Given the description of an element on the screen output the (x, y) to click on. 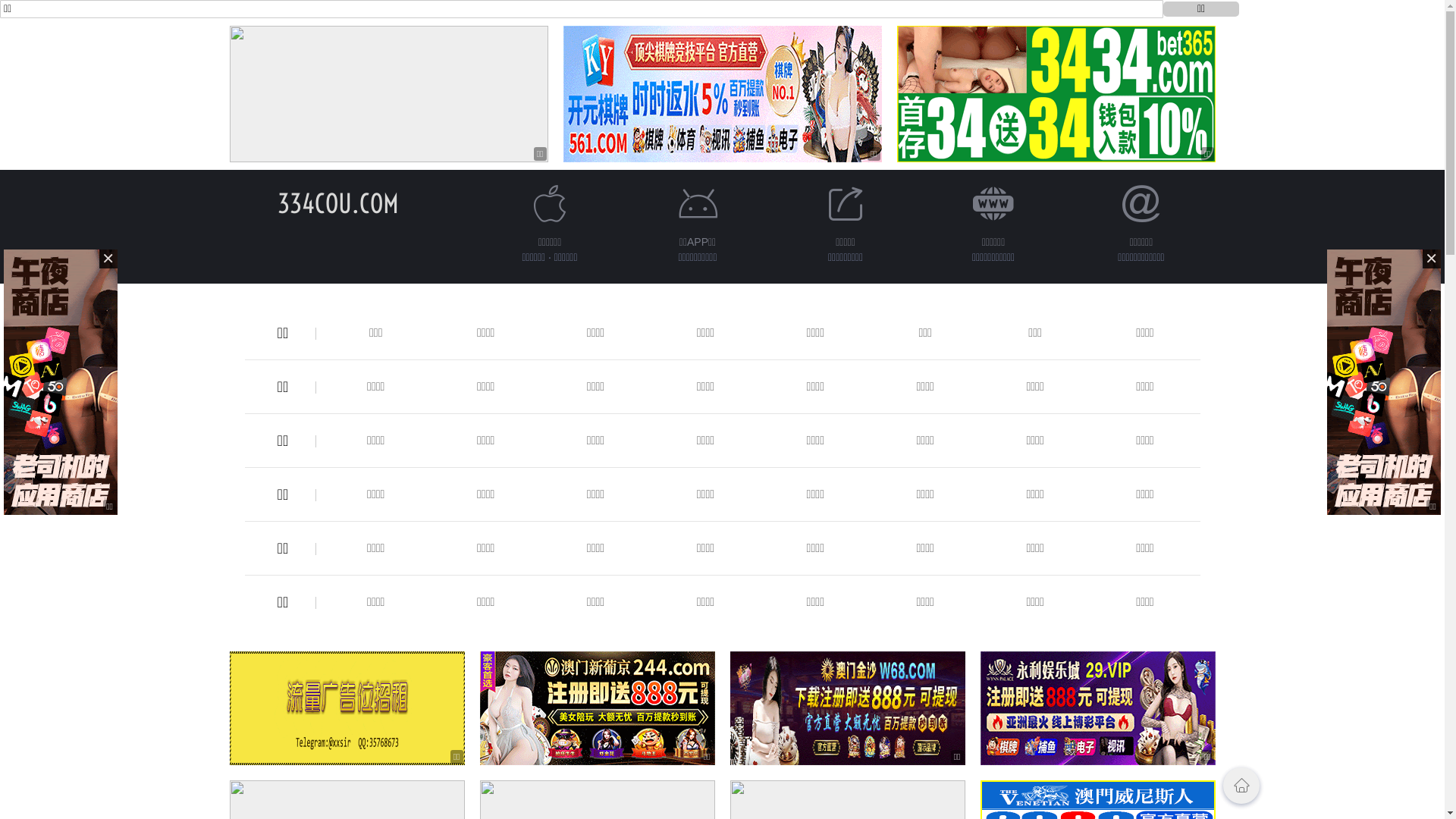
334COU.COM Element type: text (337, 203)
